Given the description of an element on the screen output the (x, y) to click on. 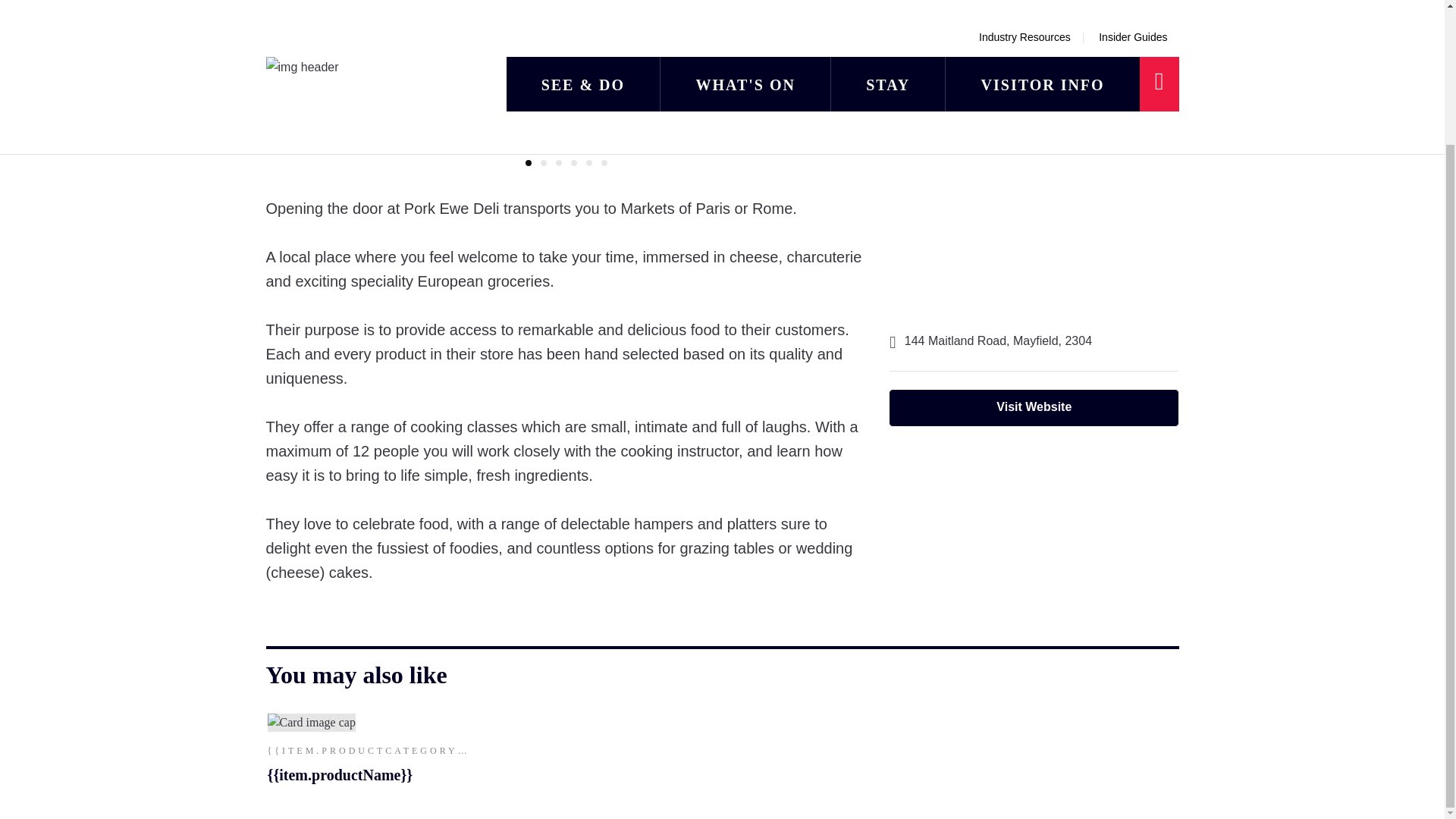
Home (279, 10)
Events (331, 10)
Visit Website (1033, 407)
